Given the description of an element on the screen output the (x, y) to click on. 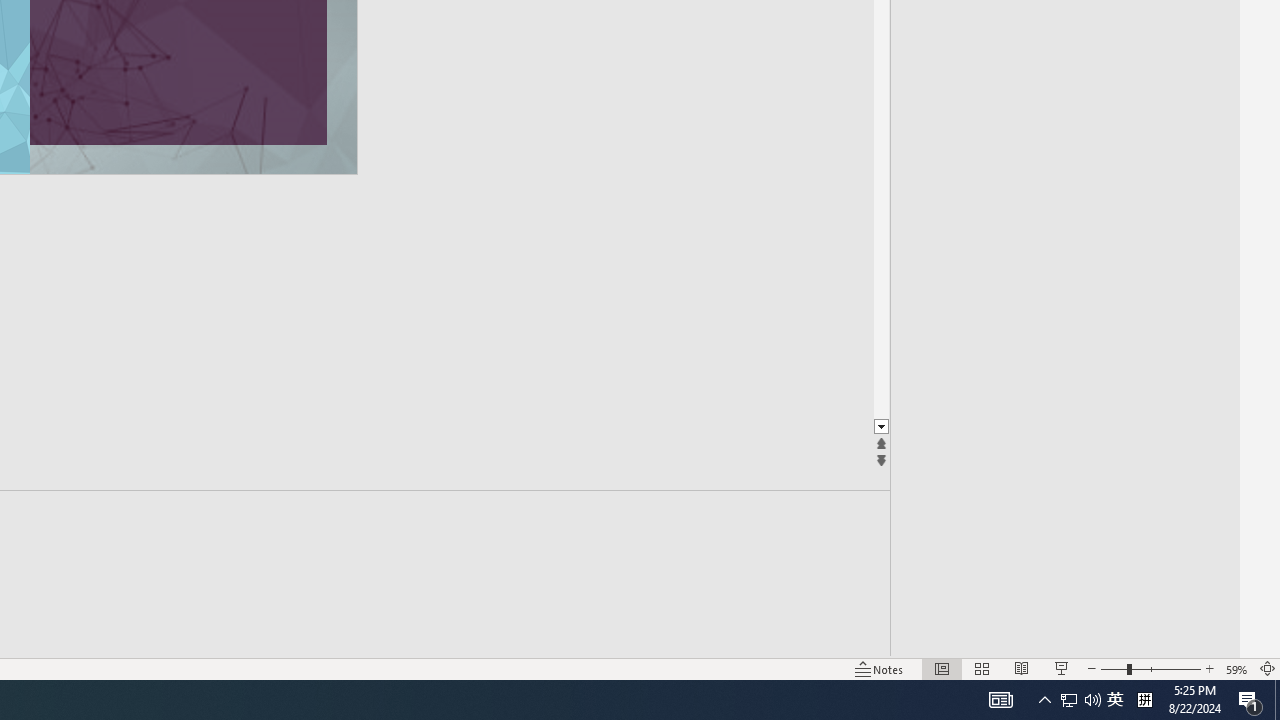
Zoom 59% (1236, 668)
